Given the description of an element on the screen output the (x, y) to click on. 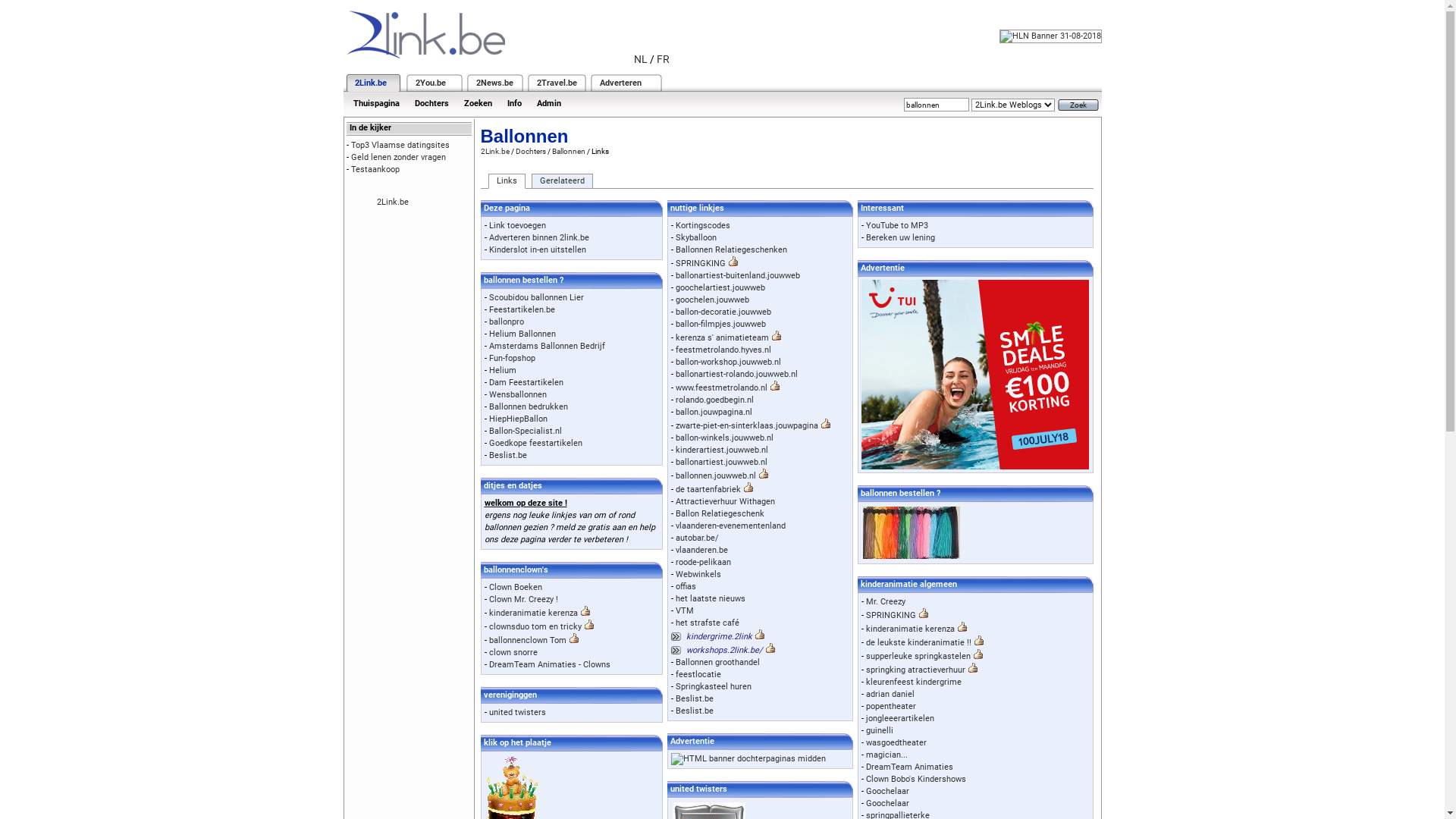
Dochters Element type: text (430, 103)
VTM Element type: text (684, 610)
ballonartiest.jouwweb.nl Element type: text (721, 462)
Goedkope feestartikelen Element type: text (534, 443)
ballon-workshop.jouwweb.nl Element type: text (728, 362)
Zoeken Element type: text (477, 103)
Beslist.be Element type: text (694, 710)
de taartenfabriek Element type: text (707, 489)
Helium Element type: text (501, 370)
Clown Boeken Element type: text (514, 587)
Beslist.be Element type: text (694, 698)
Fun-fopshop Element type: text (511, 358)
Springkasteel huren Element type: text (713, 686)
SPRINGKING Element type: text (700, 263)
2You.be Element type: text (430, 82)
roode-pelikaan Element type: text (703, 562)
Ballonnen Element type: text (568, 151)
Webwinkels Element type: text (698, 574)
Ballon-Specialist.nl Element type: text (524, 431)
workshops.2link.be/ Element type: text (724, 650)
magician... Element type: text (886, 754)
Admin Element type: text (548, 103)
het laatste nieuws Element type: text (710, 598)
Testaankoop Element type: text (374, 169)
2News.be Element type: text (494, 82)
Skyballoon Element type: text (695, 237)
goochelen.jouwweb Element type: text (712, 299)
NL Element type: text (640, 59)
adrian daniel Element type: text (890, 694)
feestmetrolando.hyves.nl Element type: text (723, 349)
kinderanimatie kerenza Element type: text (910, 628)
Clown Mr. Creezy ! Element type: text (522, 599)
Wensballonnen Element type: text (517, 394)
Beslist.be Element type: text (507, 455)
Gerelateerd Element type: text (561, 180)
ballonnenclown Tom Element type: text (526, 640)
Thuispagina Element type: text (376, 103)
united twisters Element type: text (516, 712)
Goochelaar Element type: text (887, 803)
Kinderslot in-en uitstellen Element type: text (536, 249)
Top3 Vlaamse datingsites Element type: text (399, 145)
offias Element type: text (685, 586)
zwarte-piet-en-sinterklaas.jouwpagina Element type: text (746, 425)
vlaanderen.be Element type: text (701, 550)
kinderartiest.jouwweb.nl Element type: text (721, 450)
feestlocatie Element type: text (698, 674)
jongleeerartikelen Element type: text (900, 718)
autobar.be/ Element type: text (696, 537)
kinderanimatie kerenza Element type: text (532, 613)
Adverteren binnen 2link.be Element type: text (538, 237)
DreamTeam Animaties - Clowns Element type: text (548, 664)
Amsterdams Ballonnen Bedrijf Element type: text (546, 346)
Goochelaar Element type: text (887, 791)
www.feestmetrolando.nl Element type: text (721, 387)
Info Element type: text (513, 103)
Ballonnen bedrukken Element type: text (527, 406)
2Link.be Element type: text (494, 151)
ballonnen.jouwweb.nl Element type: text (715, 475)
Geld lenen zonder vragen Element type: text (397, 157)
Adverteren Element type: text (619, 82)
ballonartiest-rolando.jouwweb.nl Element type: text (736, 374)
springking atractieverhuur Element type: text (915, 669)
Bereken uw lening Element type: text (900, 237)
vlaanderen-evenementenland Element type: text (730, 525)
rolando.goedbegin.nl Element type: text (714, 399)
Ballonnen Relatiegeschenken Element type: text (731, 249)
ballonartiest-buitenland.jouwweb Element type: text (737, 275)
Link toevoegen Element type: text (516, 225)
Clown Bobo's Kindershows Element type: text (916, 779)
Attractieverhuur Withagen Element type: text (725, 501)
Ballon Relatiegeschenk Element type: text (719, 513)
HiepHiepBallon Element type: text (517, 418)
de leukste kinderanimatie !! Element type: text (918, 642)
wasgoedtheater Element type: text (896, 742)
Dochters Element type: text (530, 151)
Dam Feestartikelen Element type: text (525, 382)
2Travel.be Element type: text (556, 82)
ballon-winkels.jouwweb.nl Element type: text (724, 437)
popentheater Element type: text (891, 706)
ballon.jouwpagina.nl Element type: text (713, 412)
ballon-decoratie.jouwweb Element type: text (723, 311)
SPRINGKING Element type: text (891, 615)
ballon-filmpjes.jouwweb Element type: text (720, 324)
kleurenfeest kindergrime Element type: text (913, 682)
Ballonnen groothandel Element type: text (717, 662)
Helium Ballonnen Element type: text (521, 333)
2Link.be Element type: text (391, 202)
supperleuke springkastelen Element type: text (918, 656)
goochelartiest.jouwweb Element type: text (720, 287)
Mr. Creezy Element type: text (885, 601)
Scoubidou ballonnen Lier Element type: text (535, 297)
kerenza s' animatieteam Element type: text (721, 337)
2Link.be Element type: text (370, 82)
Links Element type: text (506, 180)
FR Element type: text (662, 59)
guinelli Element type: text (879, 730)
clown snorre Element type: text (512, 652)
ballonpro Element type: text (505, 321)
DreamTeam Animaties Element type: text (909, 766)
Kortingscodes Element type: text (702, 225)
YouTube to MP3 Element type: text (897, 225)
Feestartikelen.be Element type: text (521, 309)
Zoek Element type: text (1077, 103)
clownsduo tom en tricky Element type: text (534, 626)
kindergrime.2link Element type: text (719, 636)
